Given the description of an element on the screen output the (x, y) to click on. 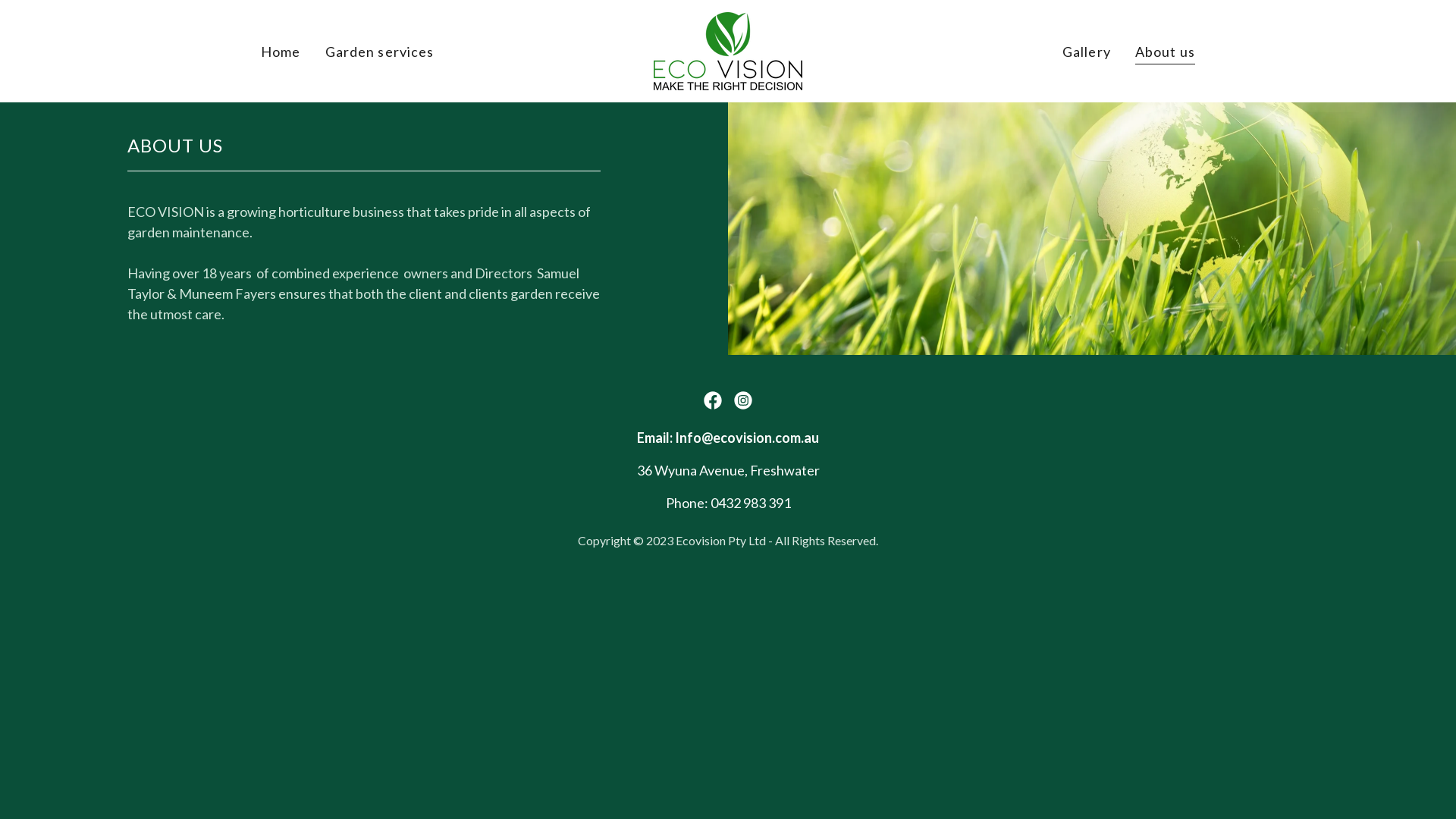
0432 983 391 Element type: text (749, 502)
Home Element type: text (280, 51)
Garden services Element type: text (379, 51)
Gallery Element type: text (1086, 51)
About us Element type: text (1165, 53)
ECO VISION Element type: hover (727, 48)
